Given the description of an element on the screen output the (x, y) to click on. 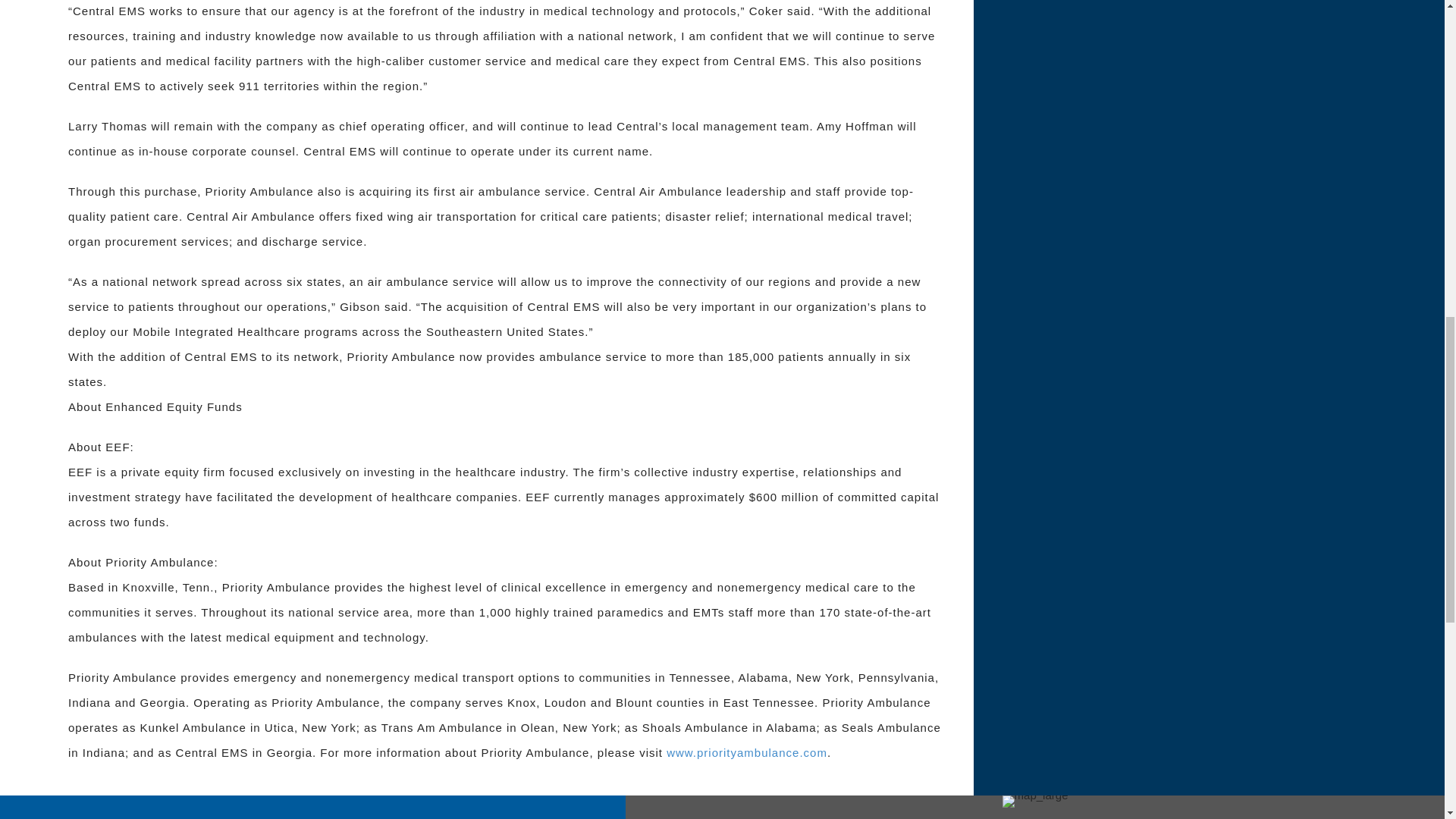
www.priorityambulance.com (746, 752)
